Given the description of an element on the screen output the (x, y) to click on. 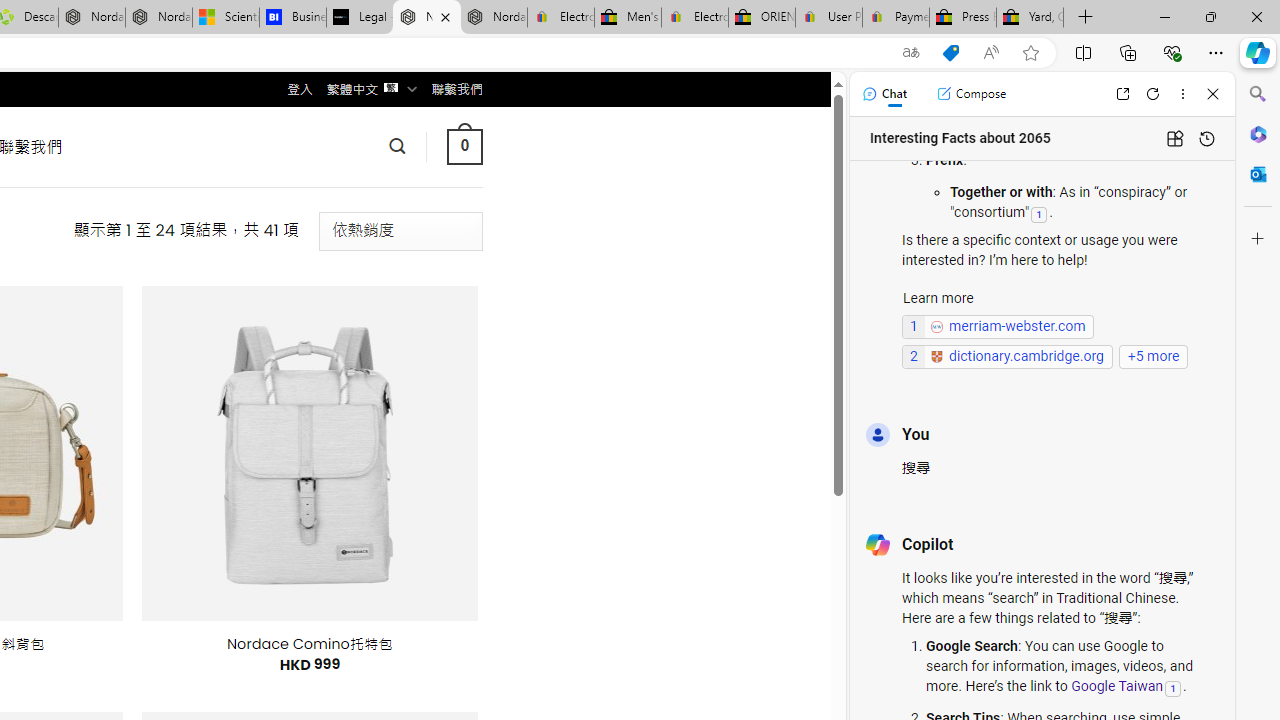
 0  (464, 146)
Chat (884, 93)
